Given the description of an element on the screen output the (x, y) to click on. 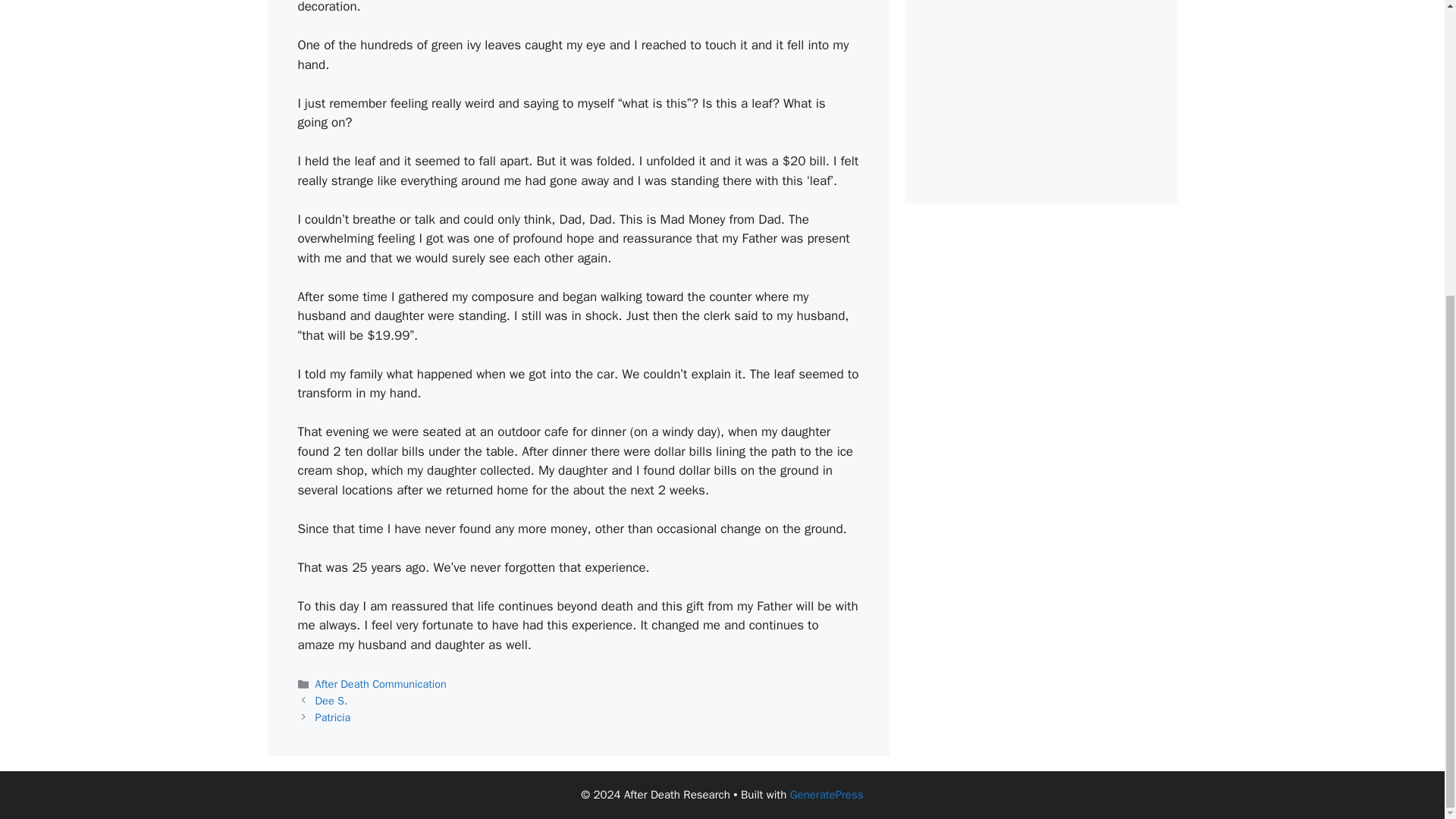
After Death Communication (380, 684)
GeneratePress (826, 794)
Patricia (332, 716)
Dee S. (331, 700)
Advertisement (1040, 86)
